Given the description of an element on the screen output the (x, y) to click on. 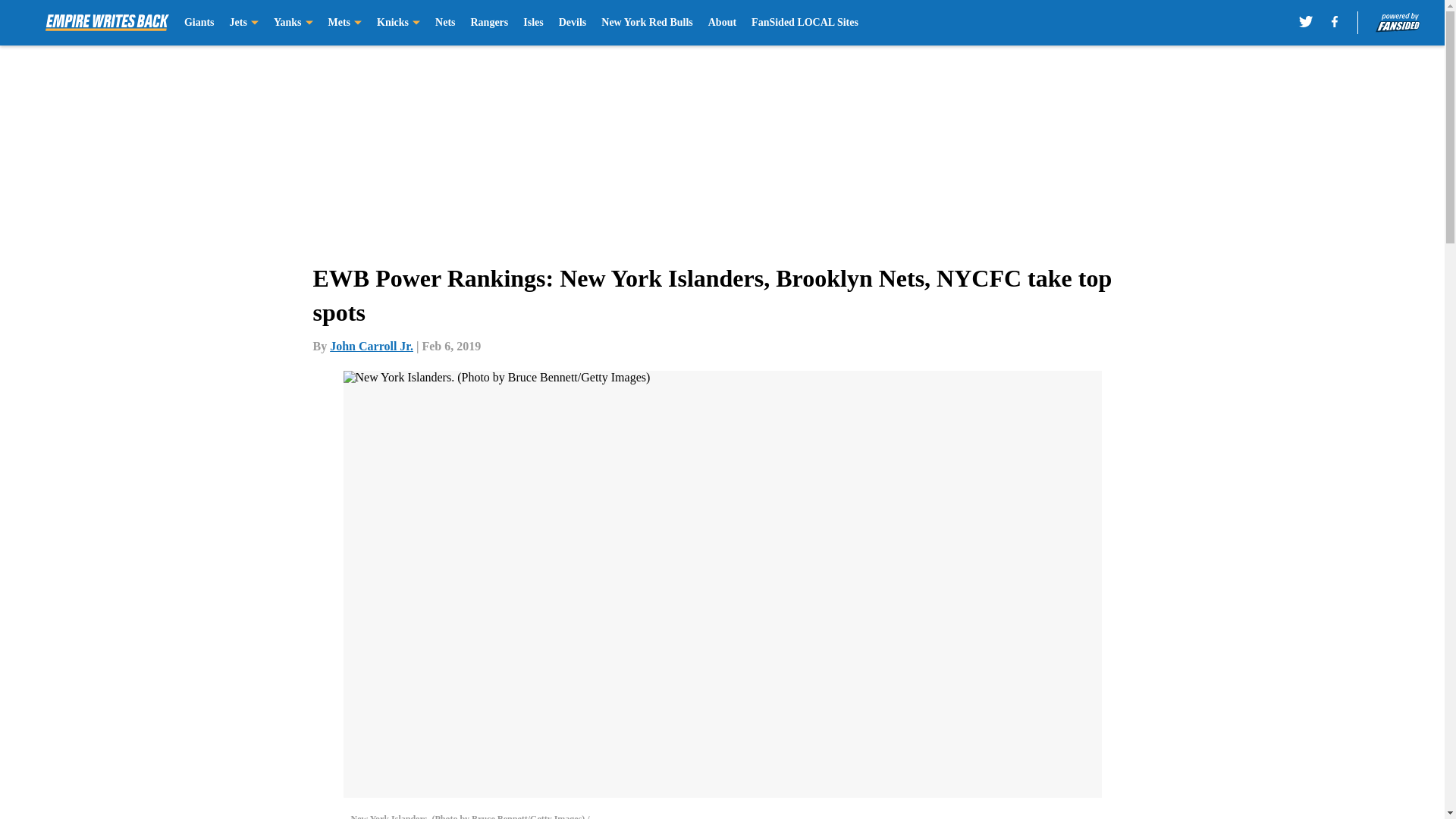
About (721, 22)
Nets (444, 22)
Isles (532, 22)
FanSided LOCAL Sites (805, 22)
Giants (199, 22)
Rangers (489, 22)
Devils (572, 22)
John Carroll Jr. (371, 345)
New York Red Bulls (647, 22)
